Given the description of an element on the screen output the (x, y) to click on. 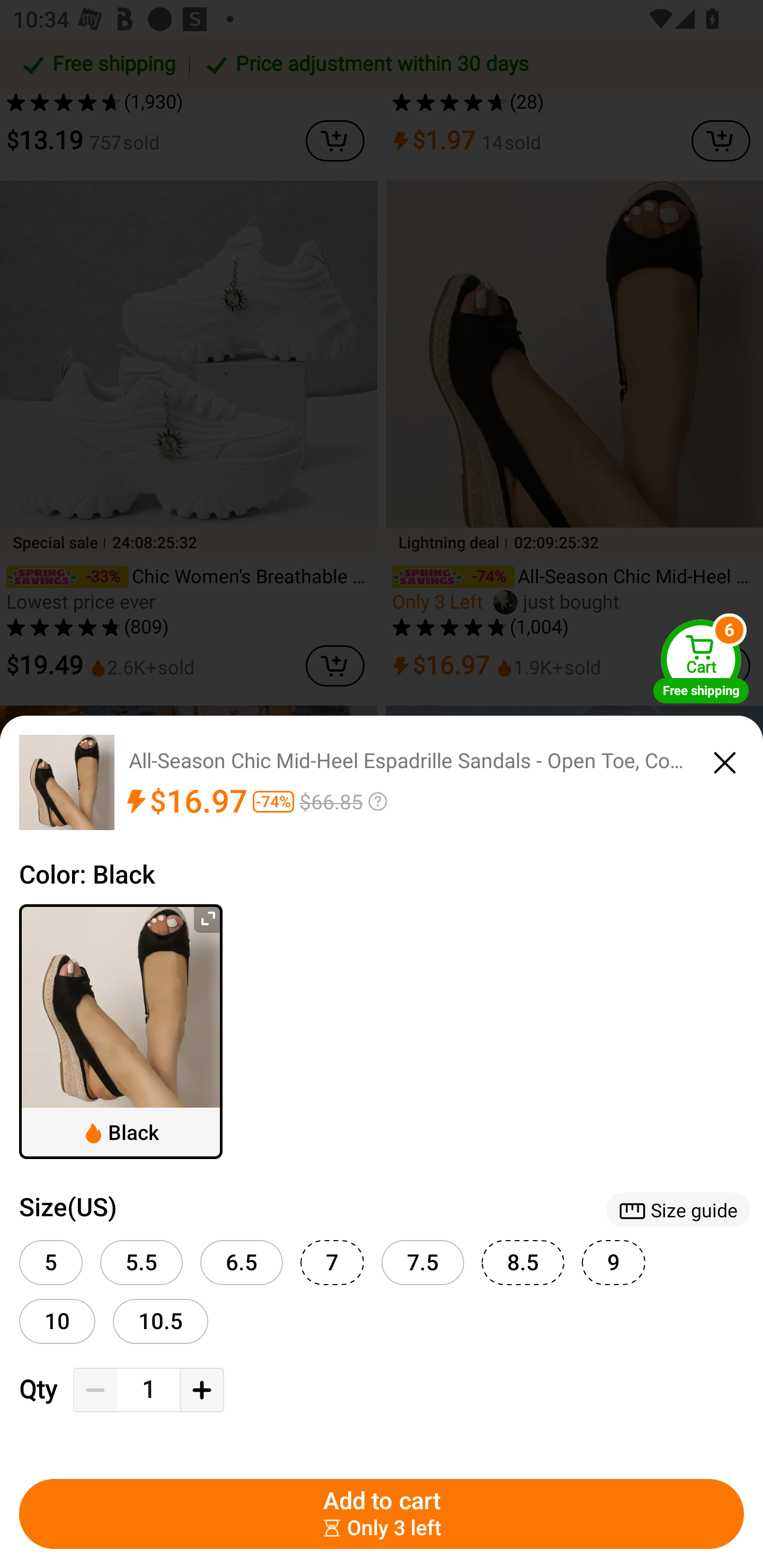
Cart Free shipping Cart (701, 660)
close (724, 760)
Black ￼Black (120, 1031)
￼Size guide (677, 1209)
 5 (50, 1262)
 5.5 (141, 1262)
 6.5 (241, 1262)
 7 (331, 1262)
 7.5 (422, 1262)
 8.5 (522, 1262)
 9 (613, 1262)
 10 (57, 1320)
 10.5 (160, 1320)
Decrease Quantity Button (95, 1389)
Add Quantity Button (201, 1389)
1 (148, 1389)
Add to cart ￼￼Only 3 left (381, 1513)
